Given the description of an element on the screen output the (x, y) to click on. 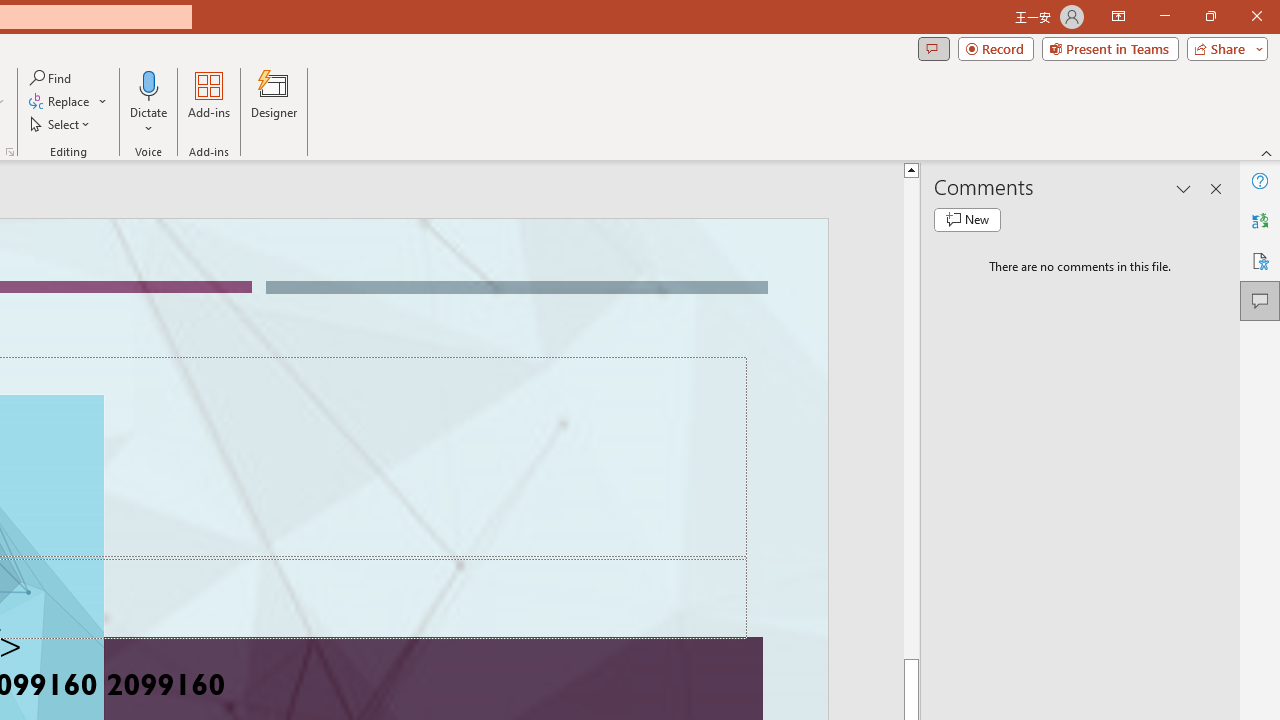
Translator (1260, 220)
Present in Teams (1109, 48)
Close pane (1215, 188)
Task Pane Options (1183, 188)
Ribbon Display Options (1118, 16)
Share (1223, 48)
Line up (911, 169)
Close (1256, 16)
Replace... (68, 101)
Minimize (1164, 16)
Collapse the Ribbon (1267, 152)
New comment (967, 219)
